Given the description of an element on the screen output the (x, y) to click on. 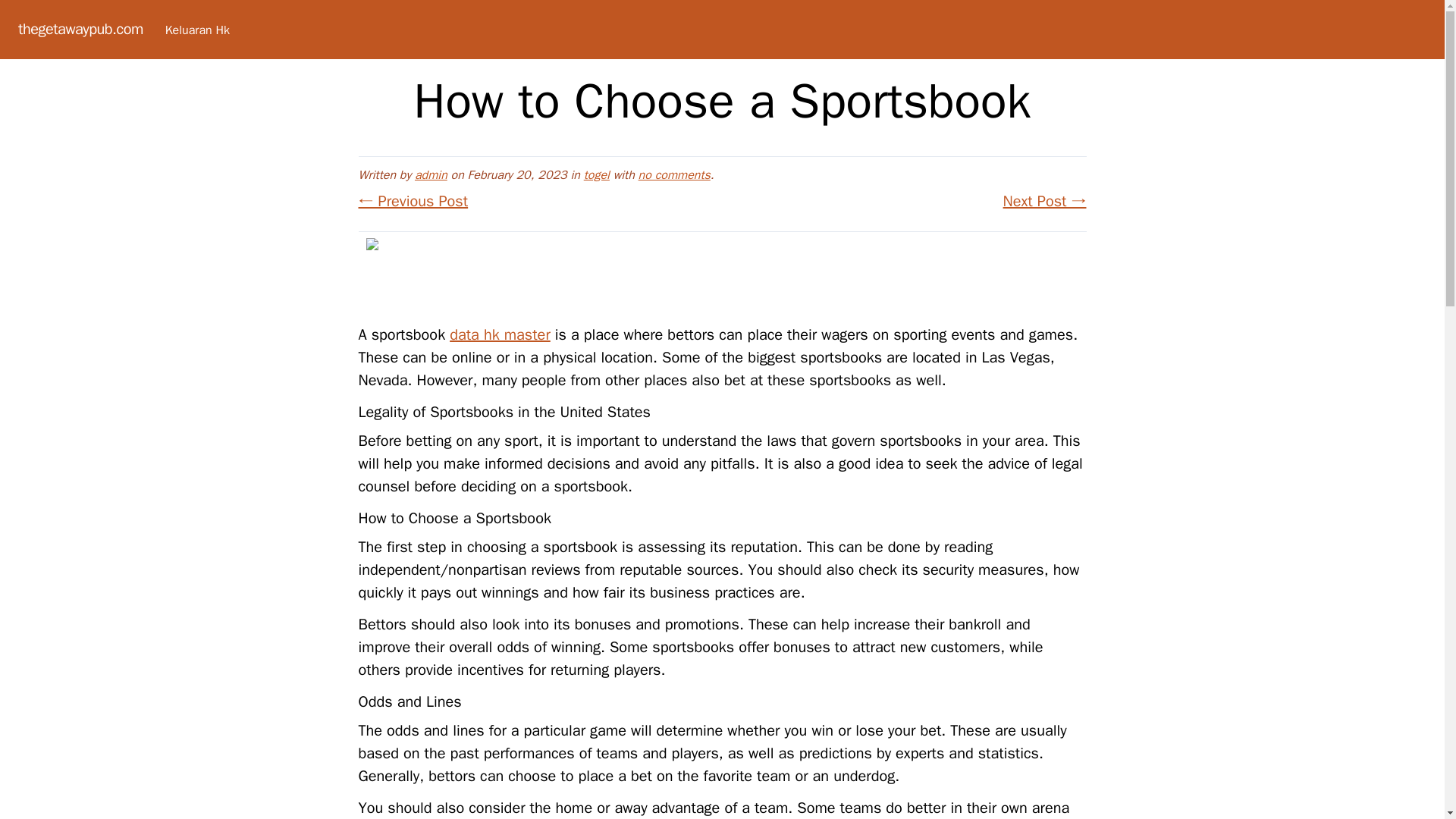
togel (596, 174)
thegetawaypub.com (79, 29)
data hk master (499, 334)
admin (430, 174)
Keluaran Hk (197, 30)
no comments (674, 174)
no comments (674, 174)
